Given the description of an element on the screen output the (x, y) to click on. 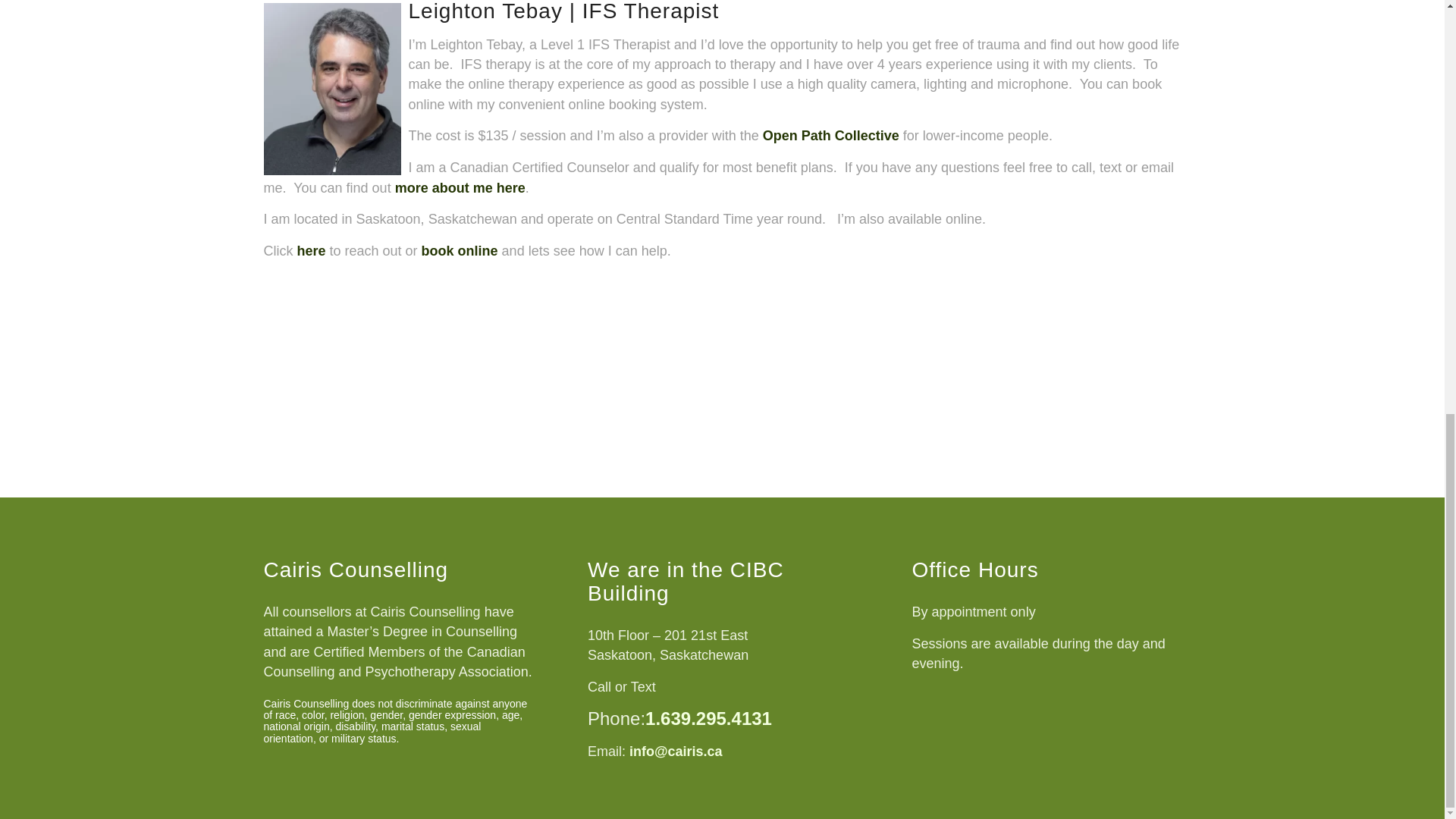
here (311, 250)
Open Path Collective (830, 135)
more about me here (459, 187)
book online (459, 250)
1.639.295.4131 (708, 718)
